Given the description of an element on the screen output the (x, y) to click on. 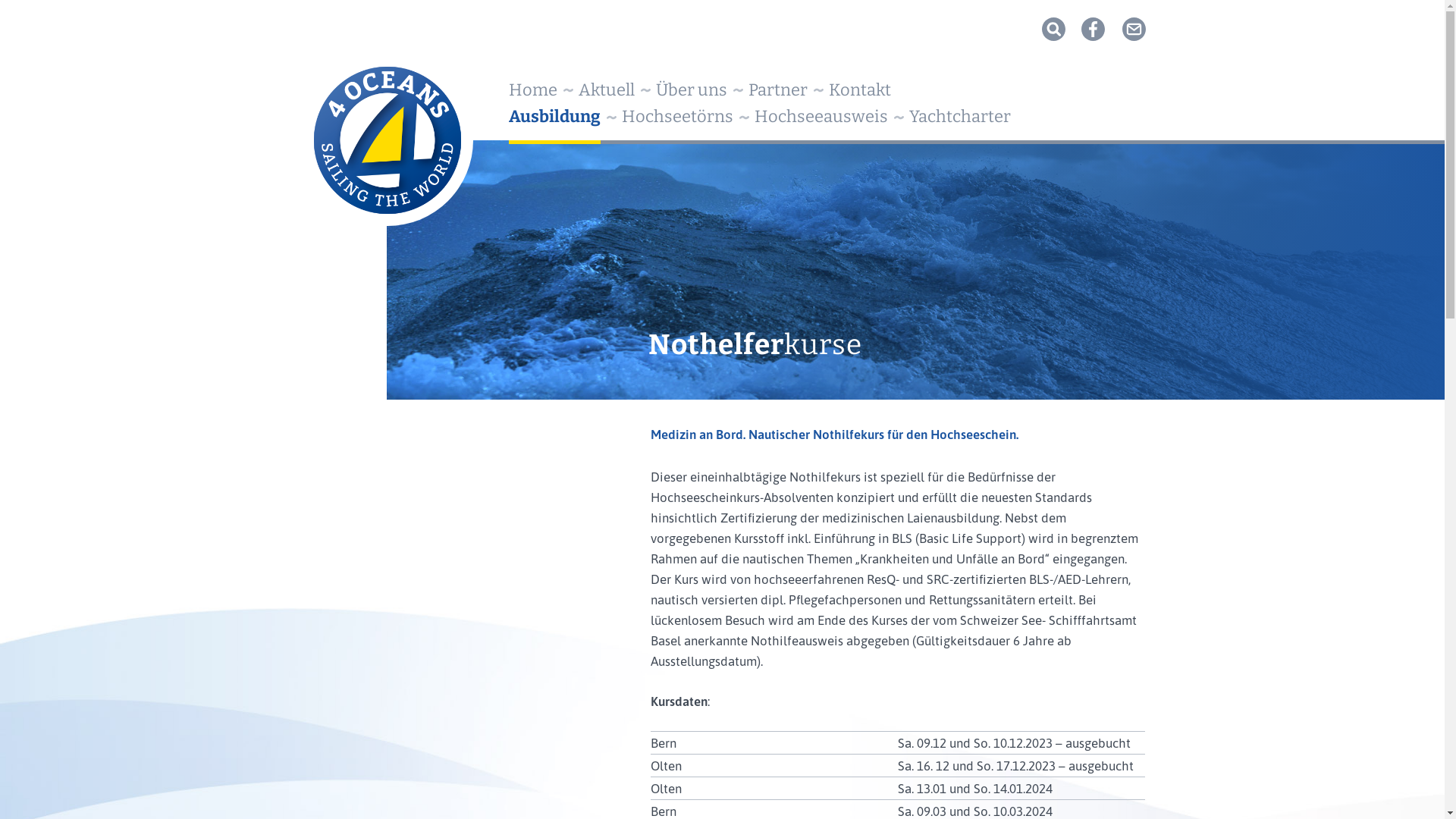
Anfrage stellen Element type: text (247, 12)
Ausbildung Element type: text (554, 118)
Kontakt Element type: text (859, 90)
Home Element type: text (532, 90)
Partner Element type: text (777, 90)
facebook Element type: text (1092, 28)
Aktuell Element type: text (606, 90)
Hochseeausweis Element type: text (820, 116)
Yachtcharter Element type: text (959, 116)
